Given the description of an element on the screen output the (x, y) to click on. 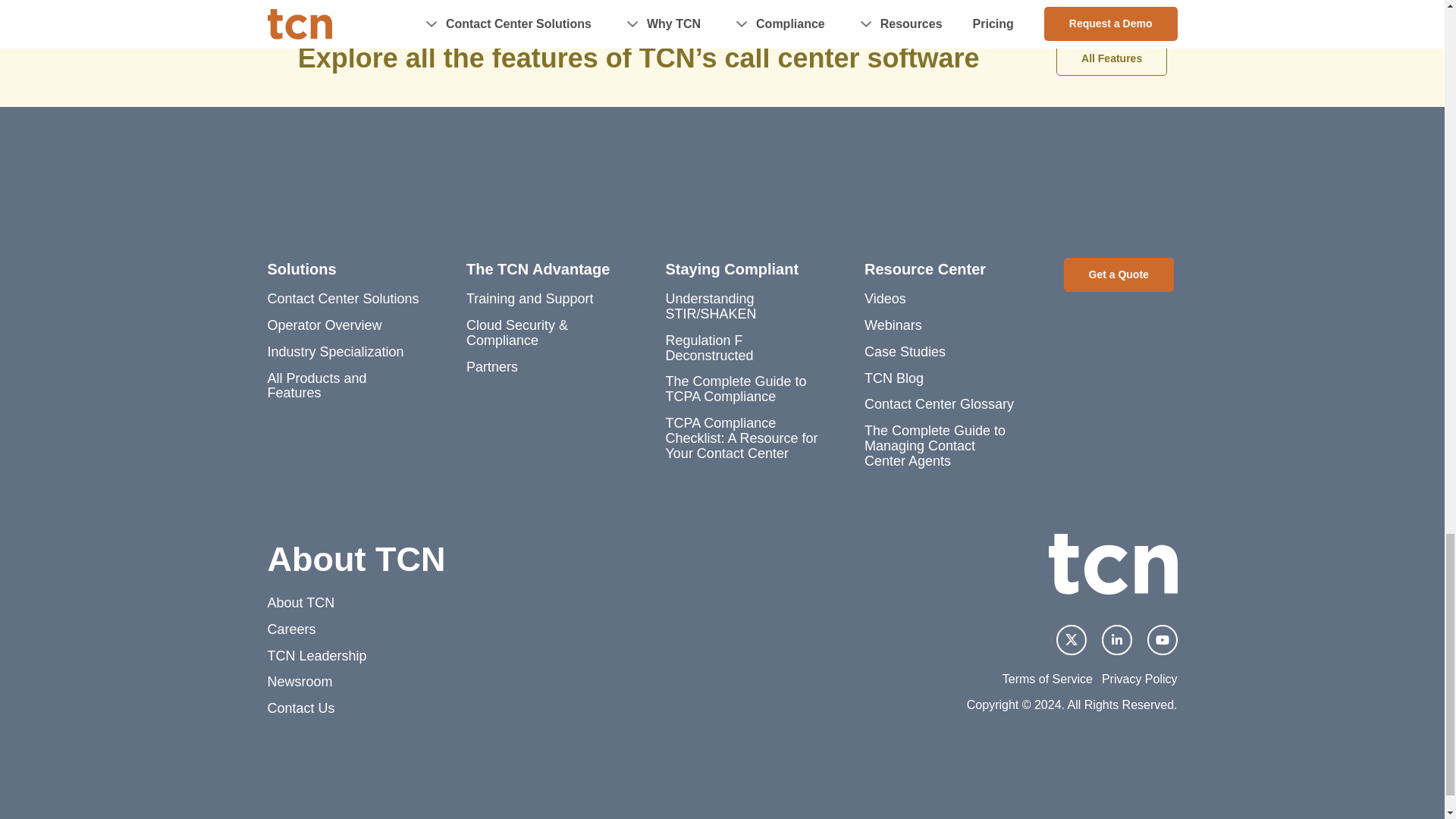
TCN (1112, 563)
